Given the description of an element on the screen output the (x, y) to click on. 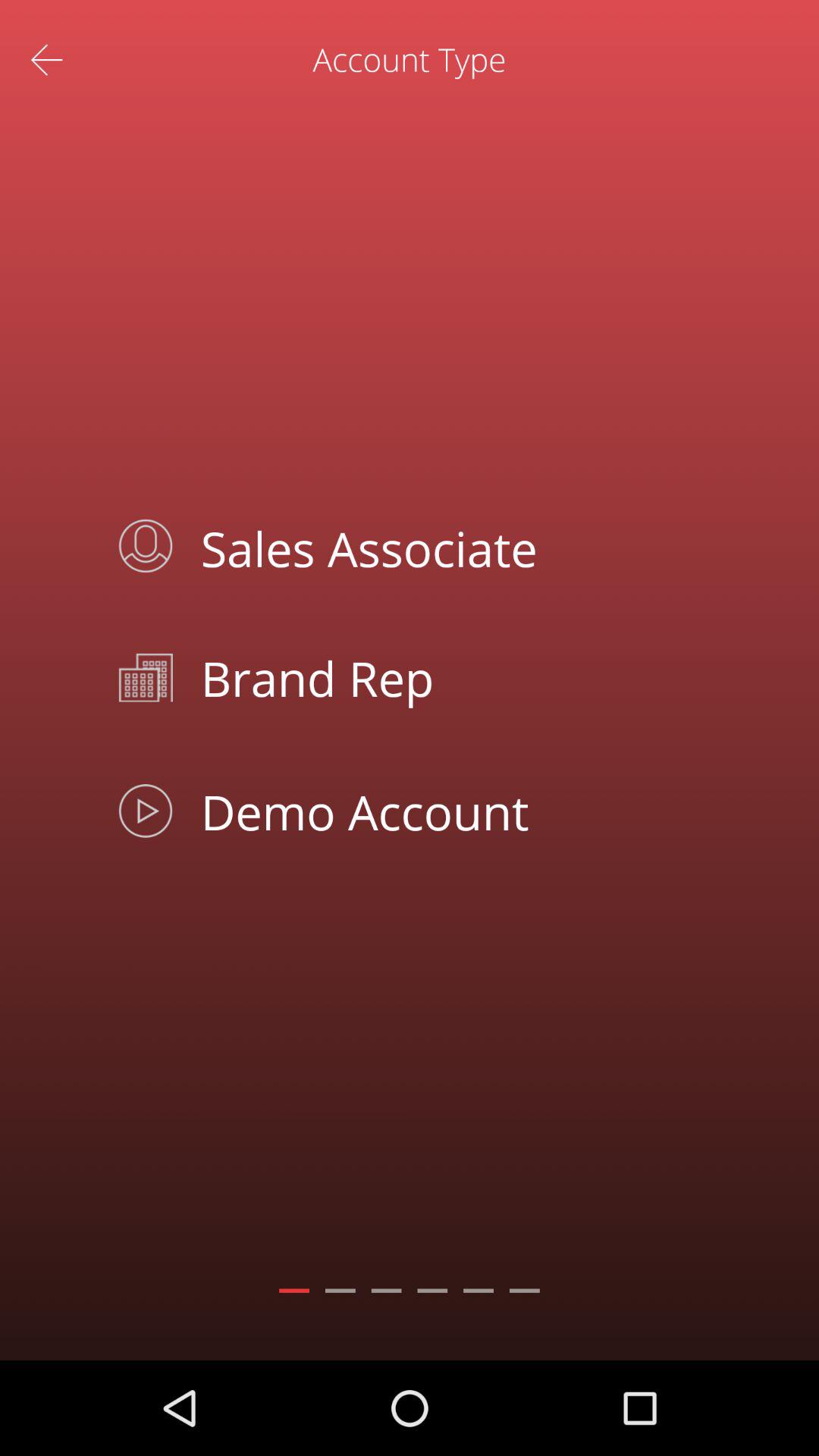
launch the icon below the account type app (444, 546)
